Given the description of an element on the screen output the (x, y) to click on. 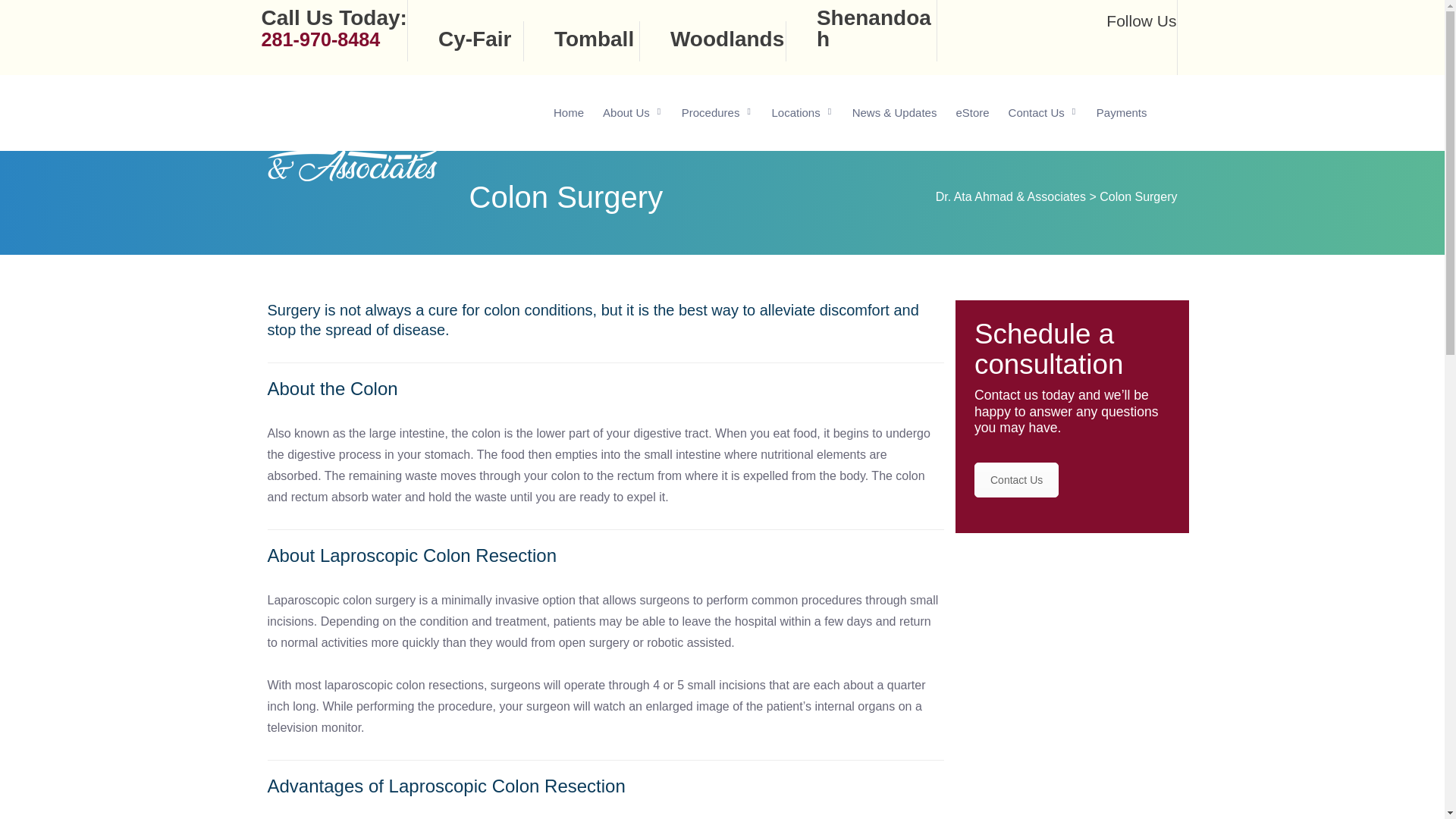
Woodlands (726, 38)
Procedures (716, 111)
Shenandoah (873, 27)
Tomball (593, 38)
Cy-Fair (333, 27)
